Given the description of an element on the screen output the (x, y) to click on. 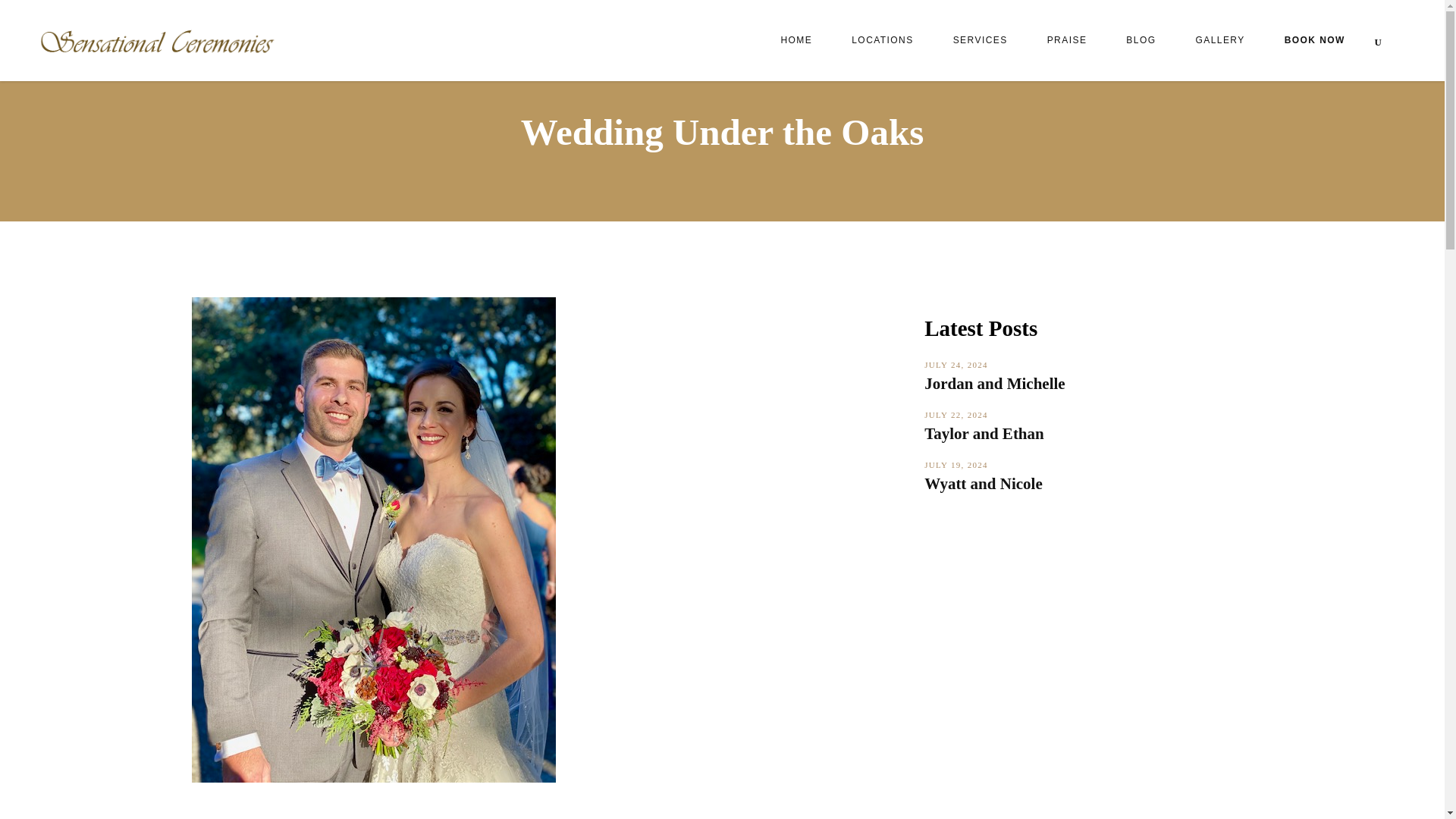
Taylor and Ethan (983, 434)
Wyatt and Nicole (983, 484)
LOCATIONS (882, 40)
Jordan and Michelle (994, 383)
HOME (795, 40)
BLOG (1140, 40)
PRAISE (1066, 40)
SERVICES (980, 40)
